Given the description of an element on the screen output the (x, y) to click on. 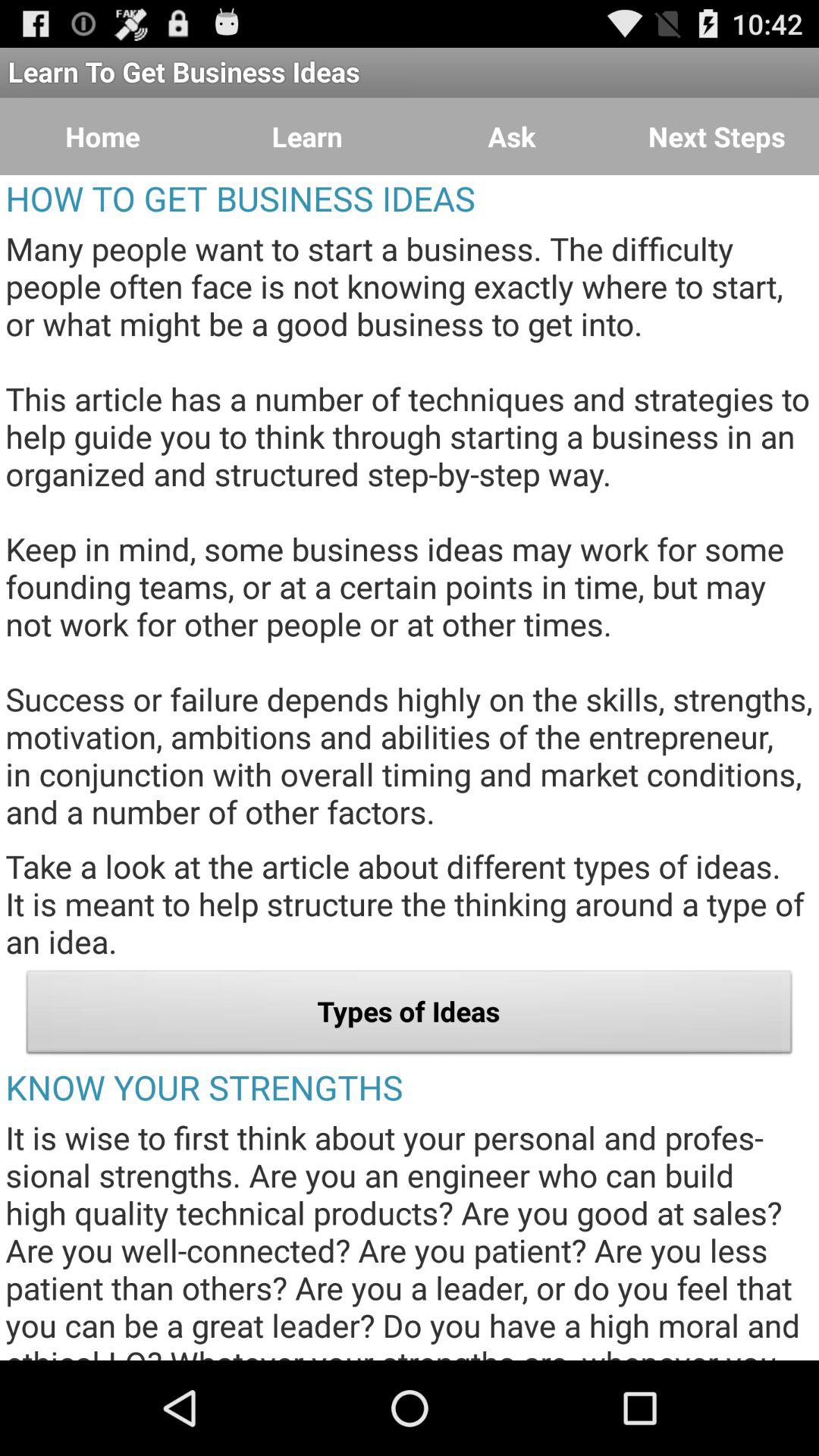
click item above how to get app (511, 136)
